Given the description of an element on the screen output the (x, y) to click on. 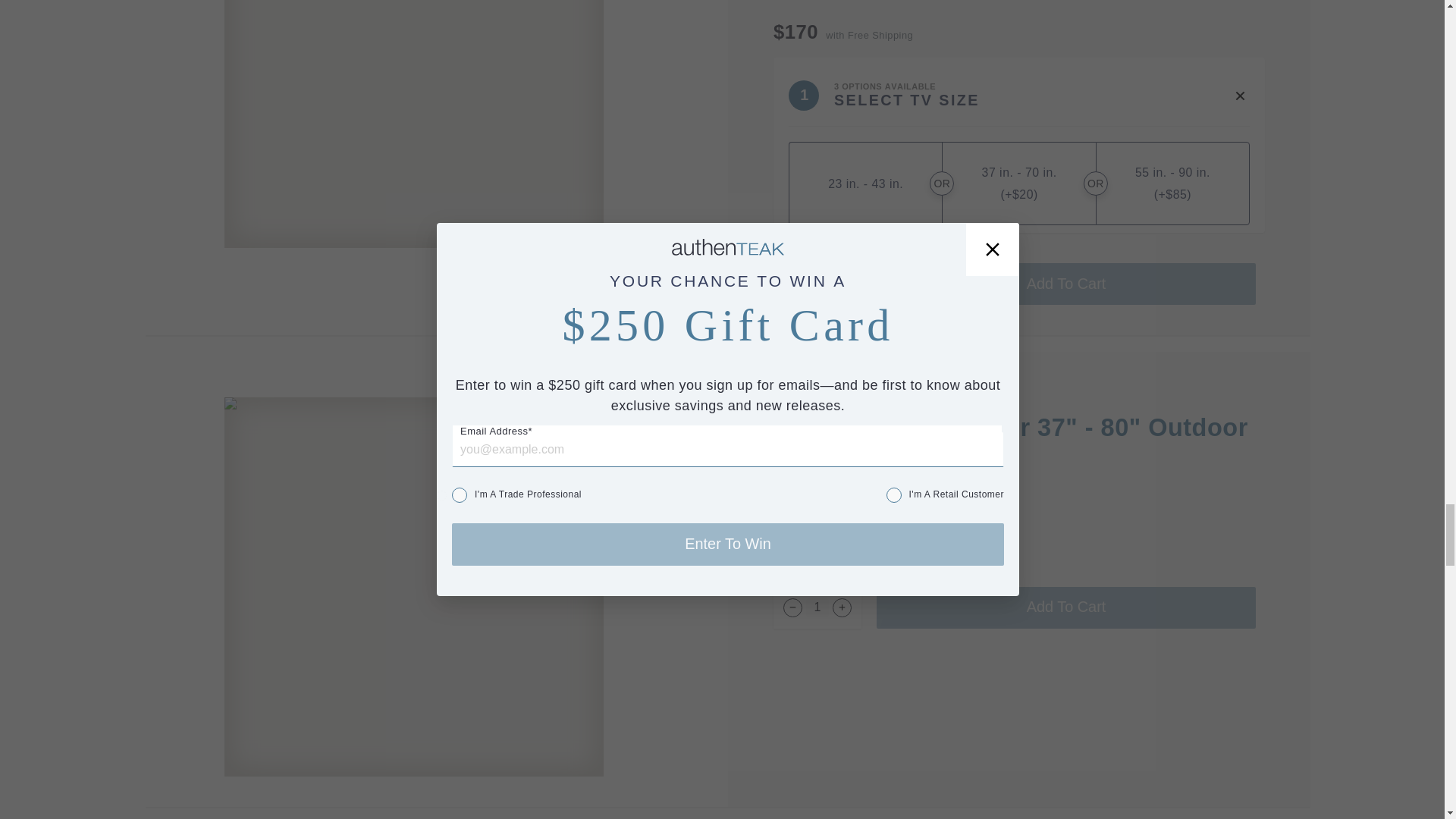
1 (817, 607)
1 (817, 283)
